Given the description of an element on the screen output the (x, y) to click on. 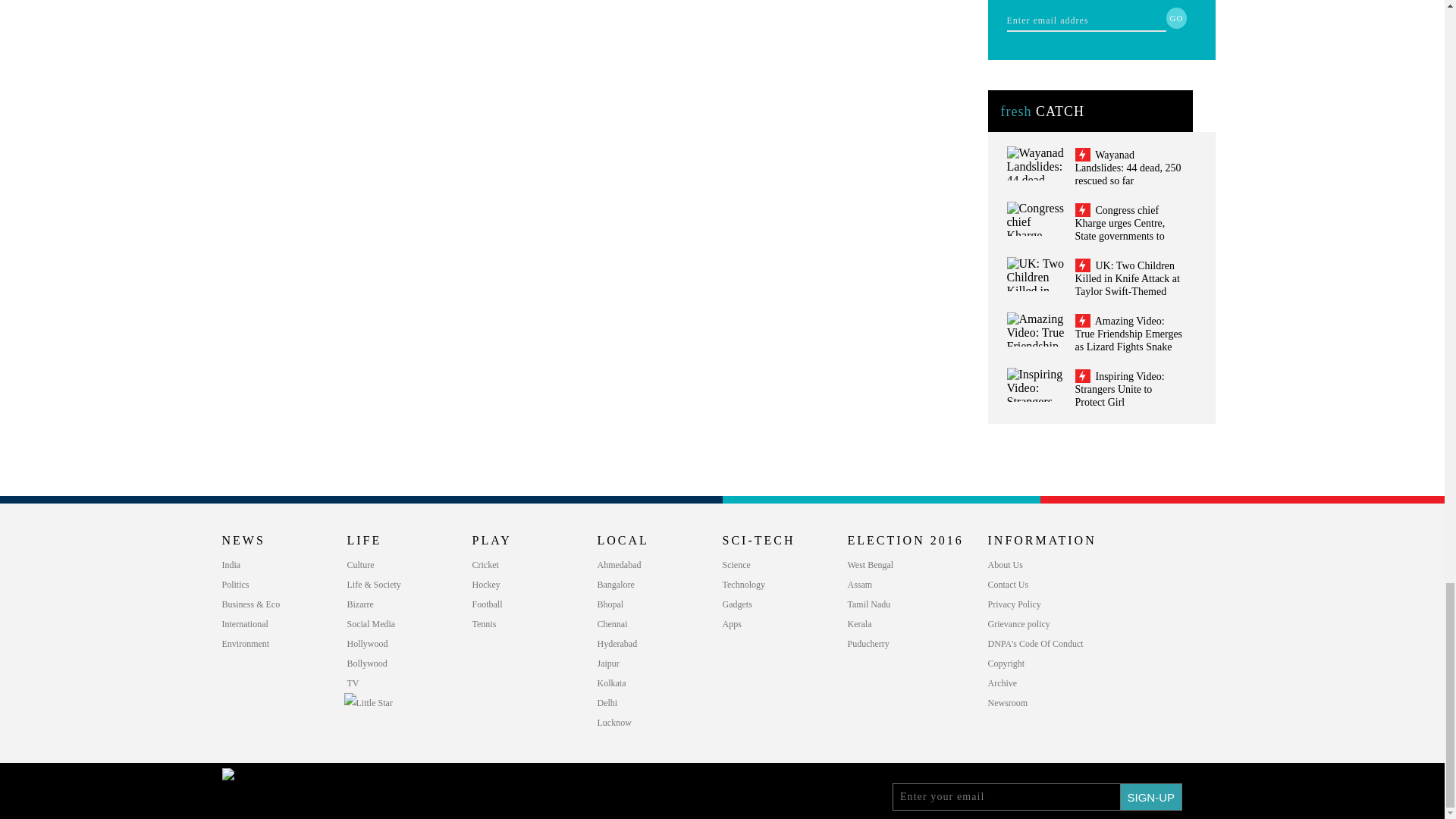
SIGN-UP (1150, 796)
GO (1177, 17)
